Given the description of an element on the screen output the (x, y) to click on. 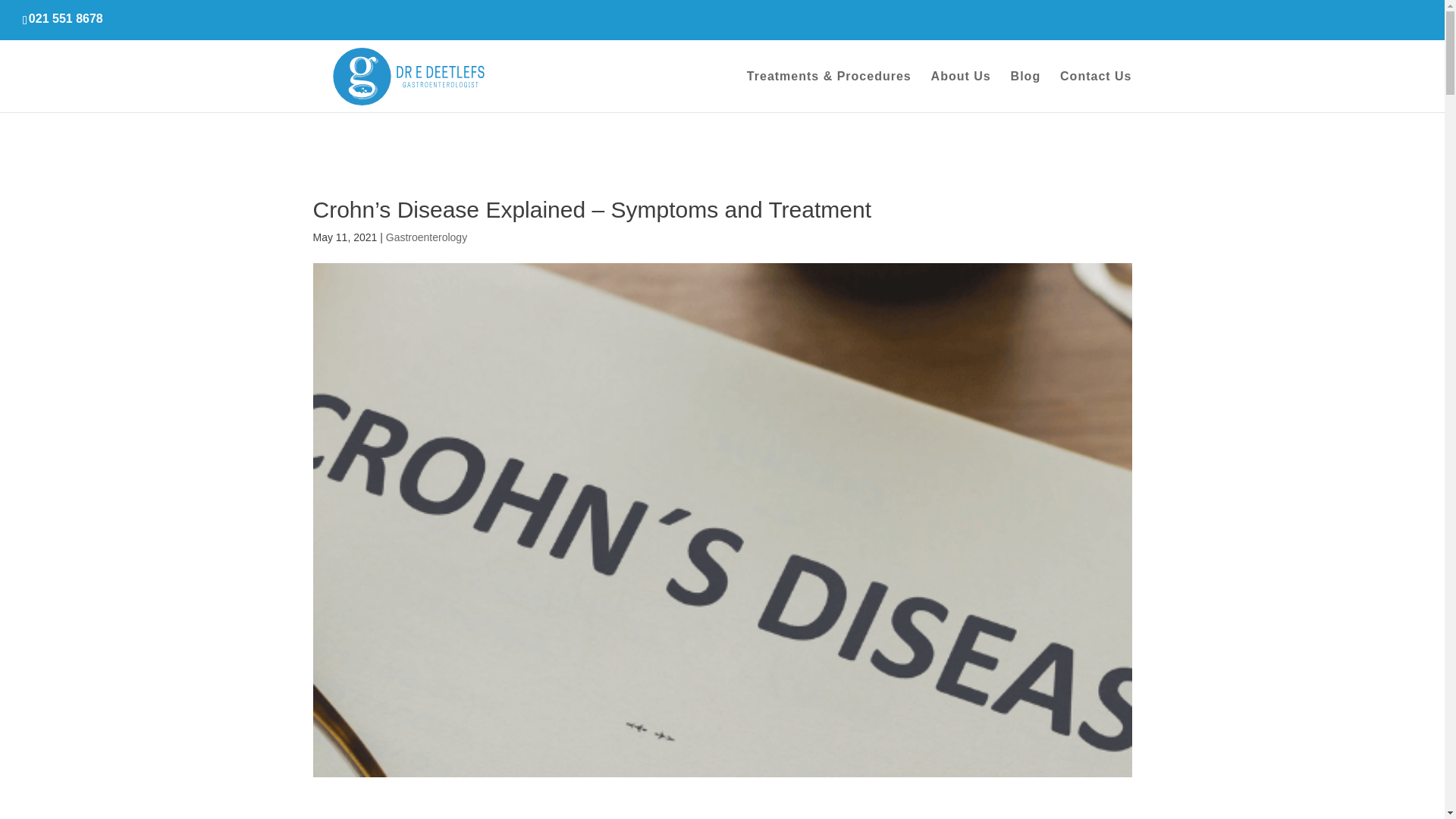
About Us (961, 91)
Gastroenterology (426, 236)
Contact Us (1095, 91)
